Given the description of an element on the screen output the (x, y) to click on. 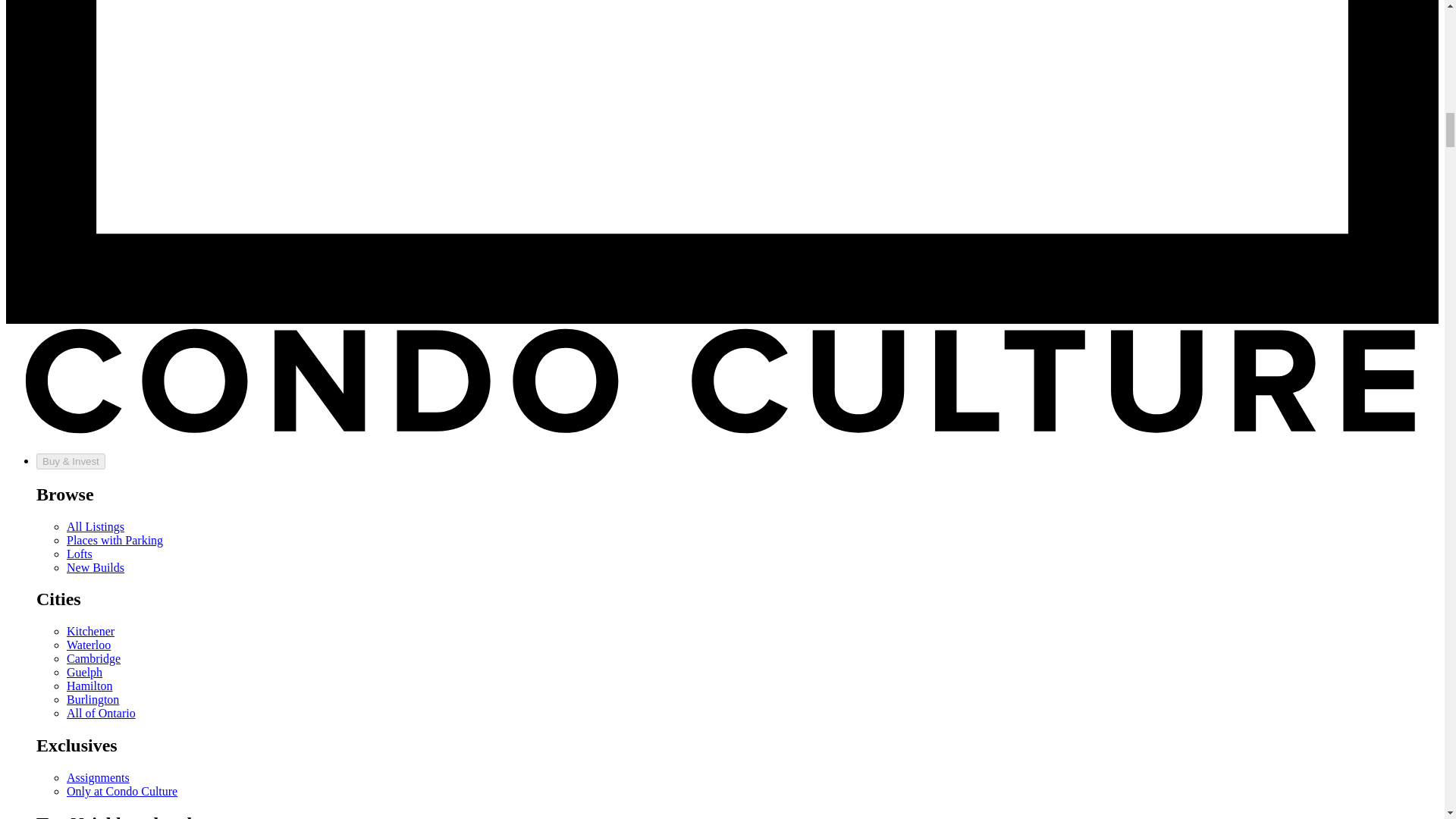
Waterloo (88, 644)
Places with Parking (114, 540)
Guelph (83, 671)
Only at Condo Culture (121, 790)
New Builds (94, 567)
All Listings (94, 526)
All of Ontario (100, 712)
Lofts (79, 553)
Burlington (92, 698)
Cambridge (93, 658)
